Given the description of an element on the screen output the (x, y) to click on. 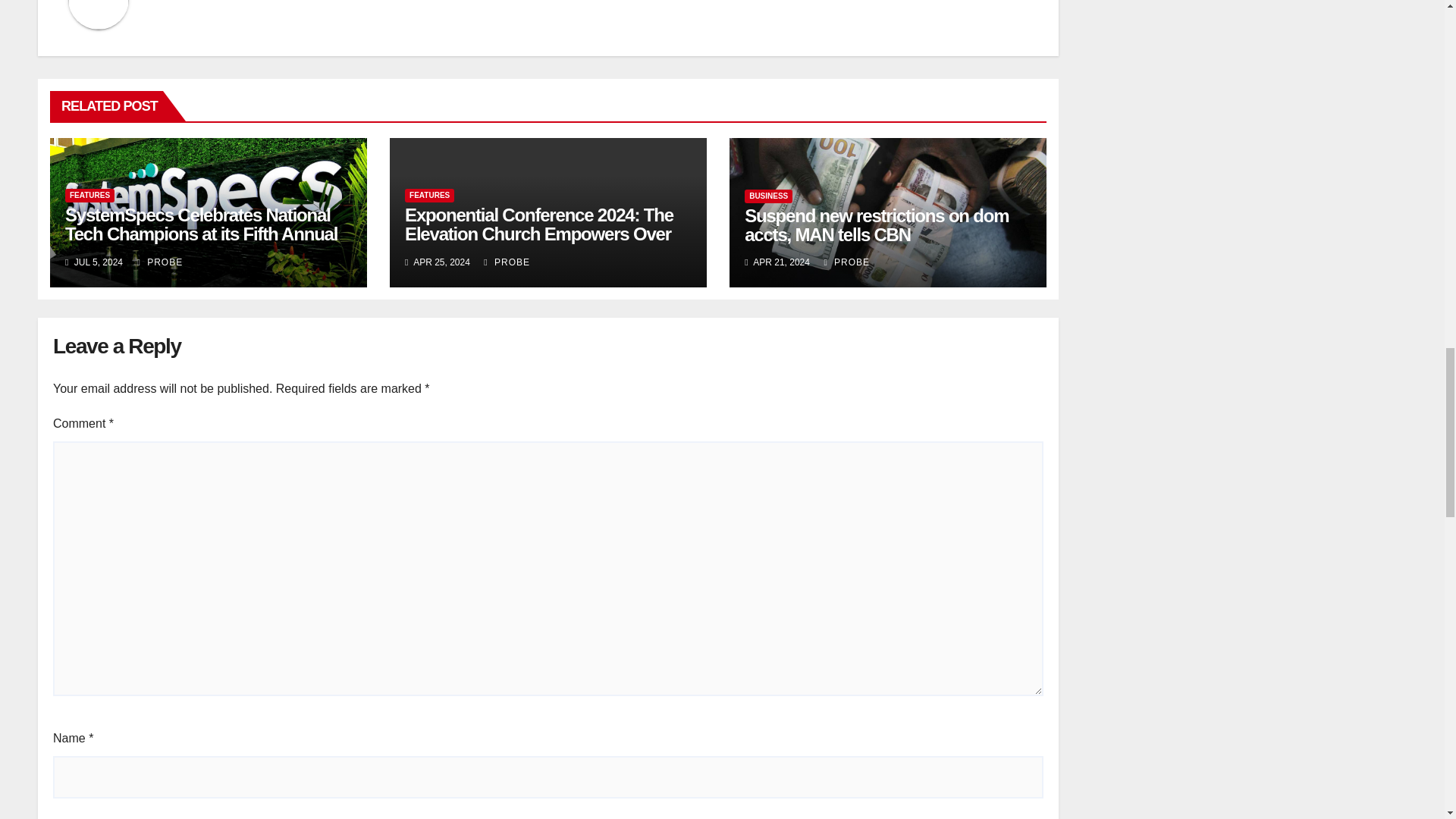
FEATURES (90, 195)
PROBE (159, 262)
